Given the description of an element on the screen output the (x, y) to click on. 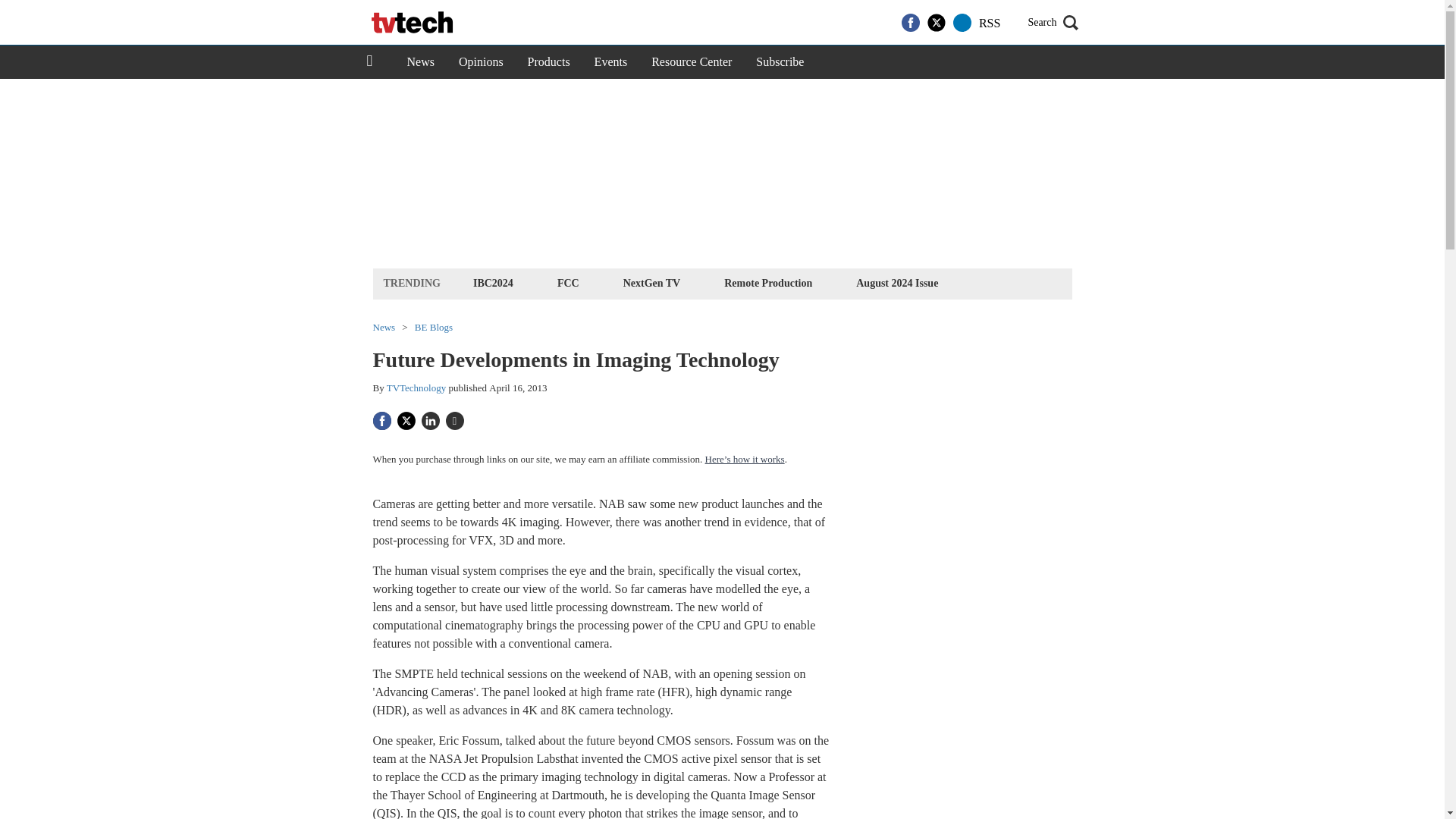
Products (548, 61)
News (419, 61)
Events (611, 61)
IBC2024 (492, 282)
Opinions (480, 61)
TVTechnology (416, 387)
August 2024 Issue (896, 282)
Resource Center (691, 61)
Remote Production (767, 282)
NextGen TV (651, 282)
